Given the description of an element on the screen output the (x, y) to click on. 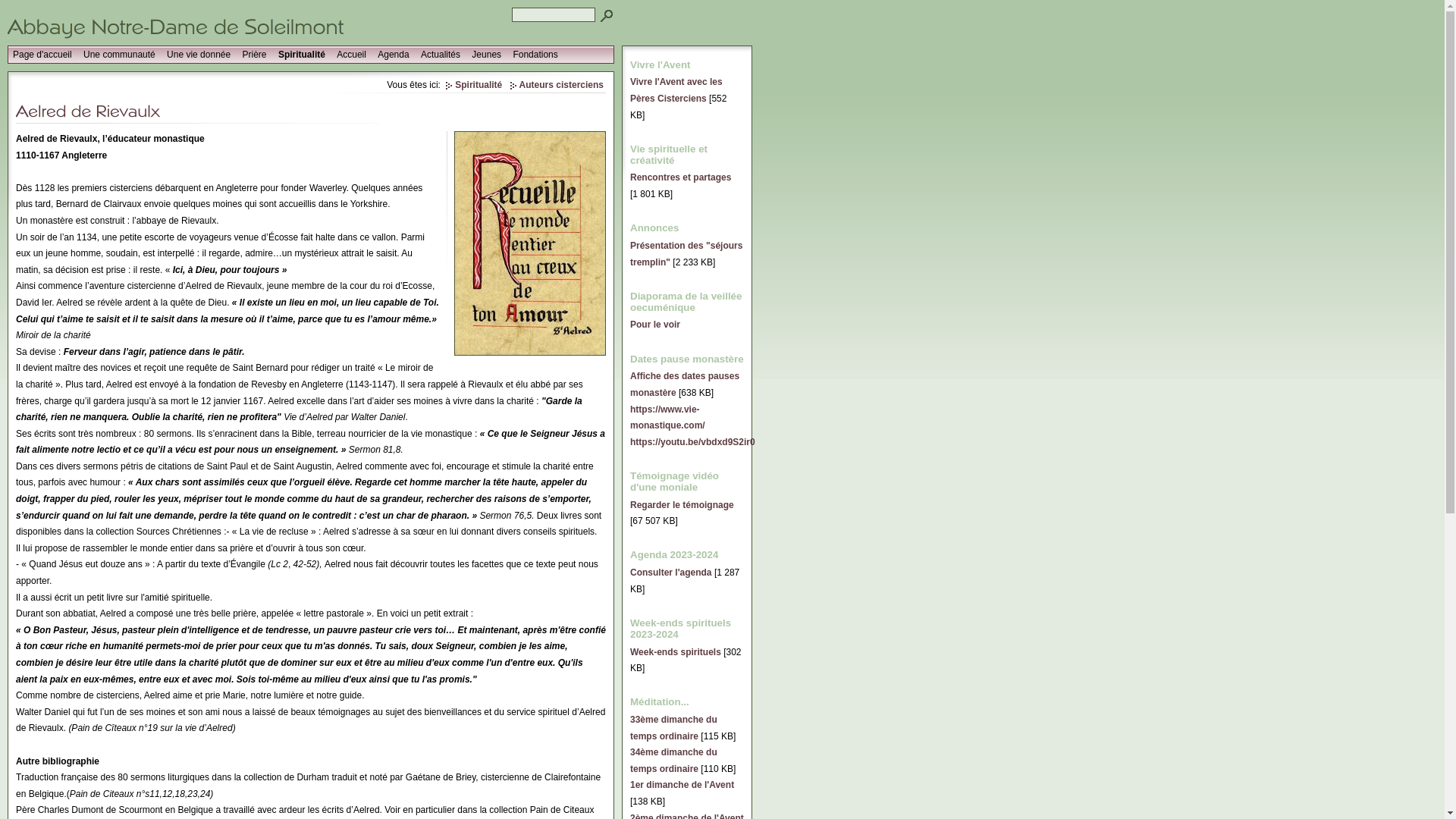
Rencontres et partages Element type: text (680, 177)
Fondations Element type: text (534, 54)
Jeunes Element type: text (486, 54)
Auteurs cisterciens Element type: text (556, 84)
1er dimanche de l'Avent Element type: text (682, 784)
https://youtu.be/vbdxd9S2ir0 Element type: text (692, 441)
Week-ends spirituels Element type: text (675, 651)
Agenda Element type: text (393, 54)
Accueil Element type: text (351, 54)
Pour le voir Element type: text (655, 324)
https://www.vie-monastique.com/ Element type: text (667, 416)
Consulter l'agenda Element type: text (671, 572)
Page d'accueil Element type: text (42, 54)
